Given the description of an element on the screen output the (x, y) to click on. 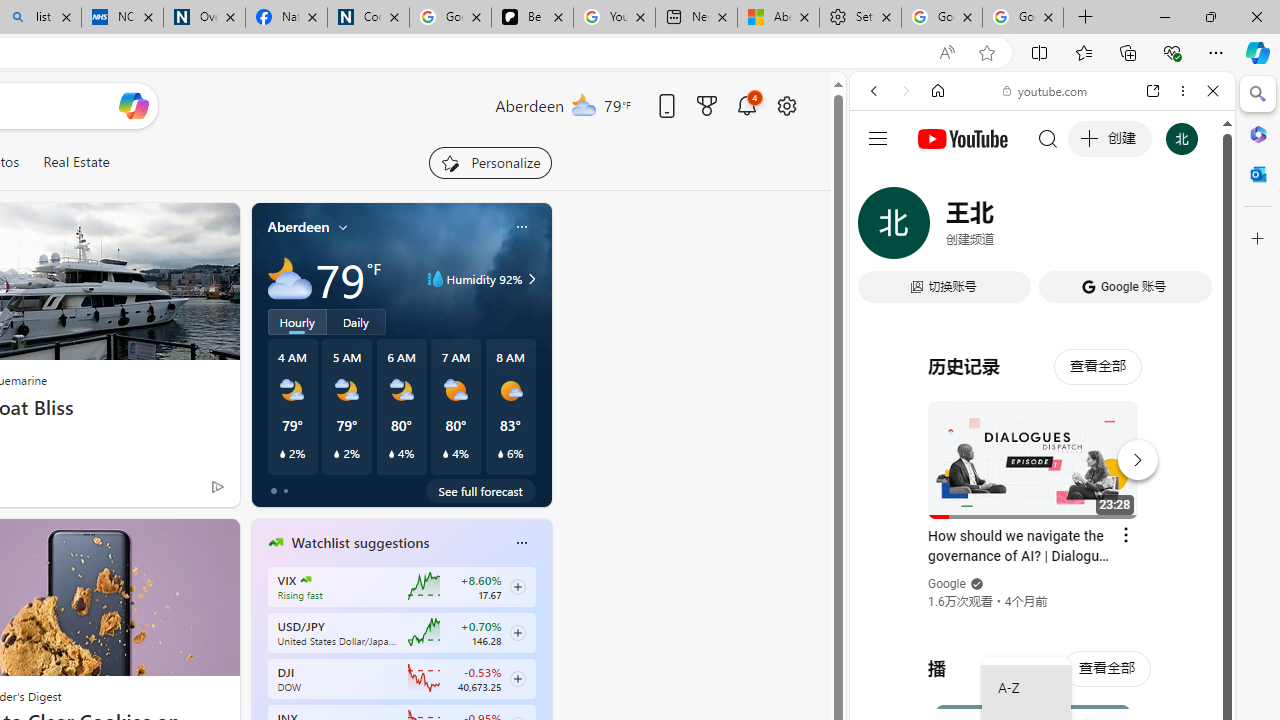
Be Smart | creating Science videos | Patreon (532, 17)
tab-1 (285, 490)
Watchlist suggestions (360, 543)
